Given the description of an element on the screen output the (x, y) to click on. 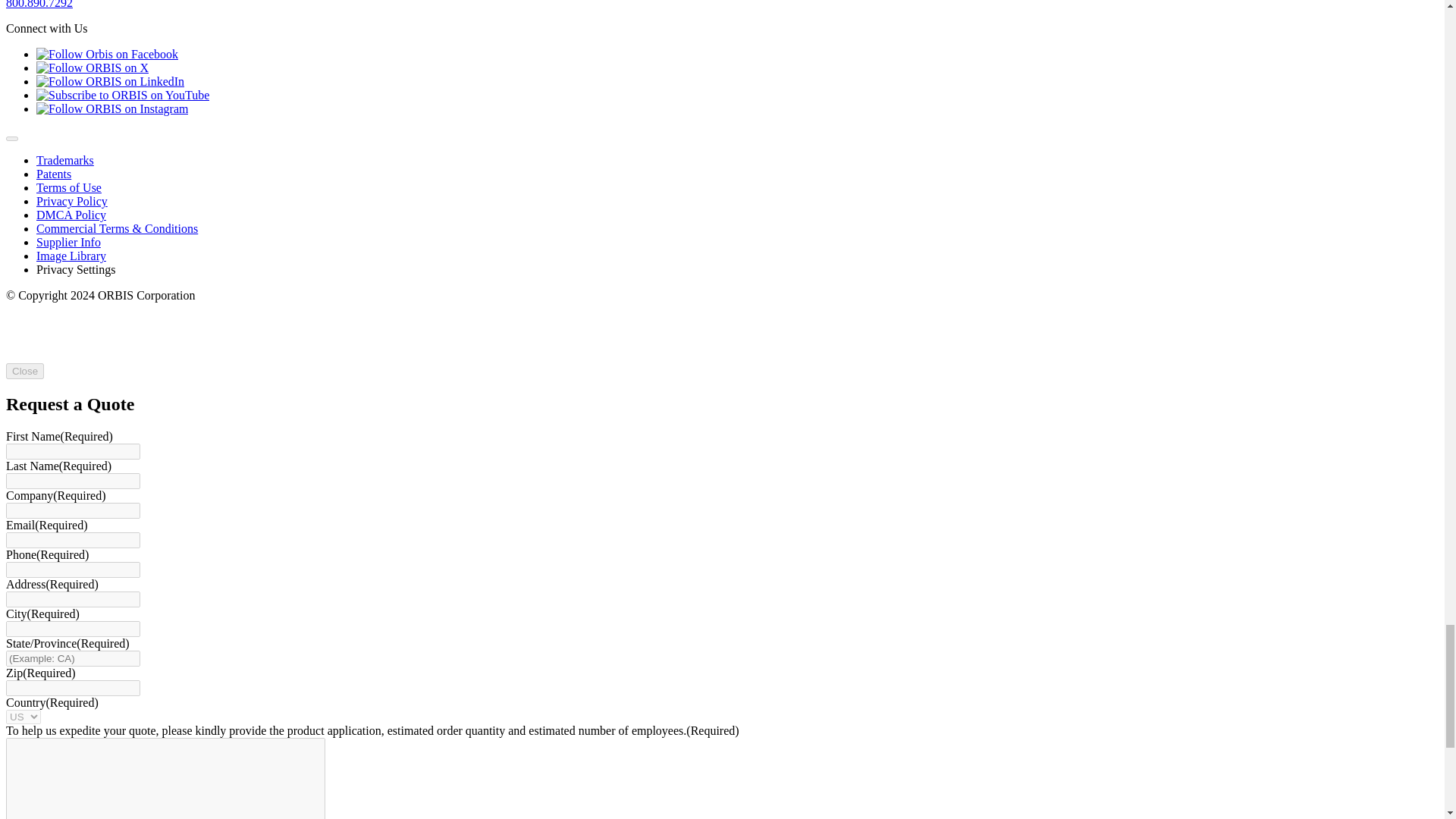
Follow Orbis on Facebook (106, 53)
Follow ORBIS on X (92, 67)
Subscribe to ORBIS on YouTube (122, 94)
Follow ORBIS on Instagram (111, 108)
Follow ORBIS on LinkedIn (110, 81)
